Given the description of an element on the screen output the (x, y) to click on. 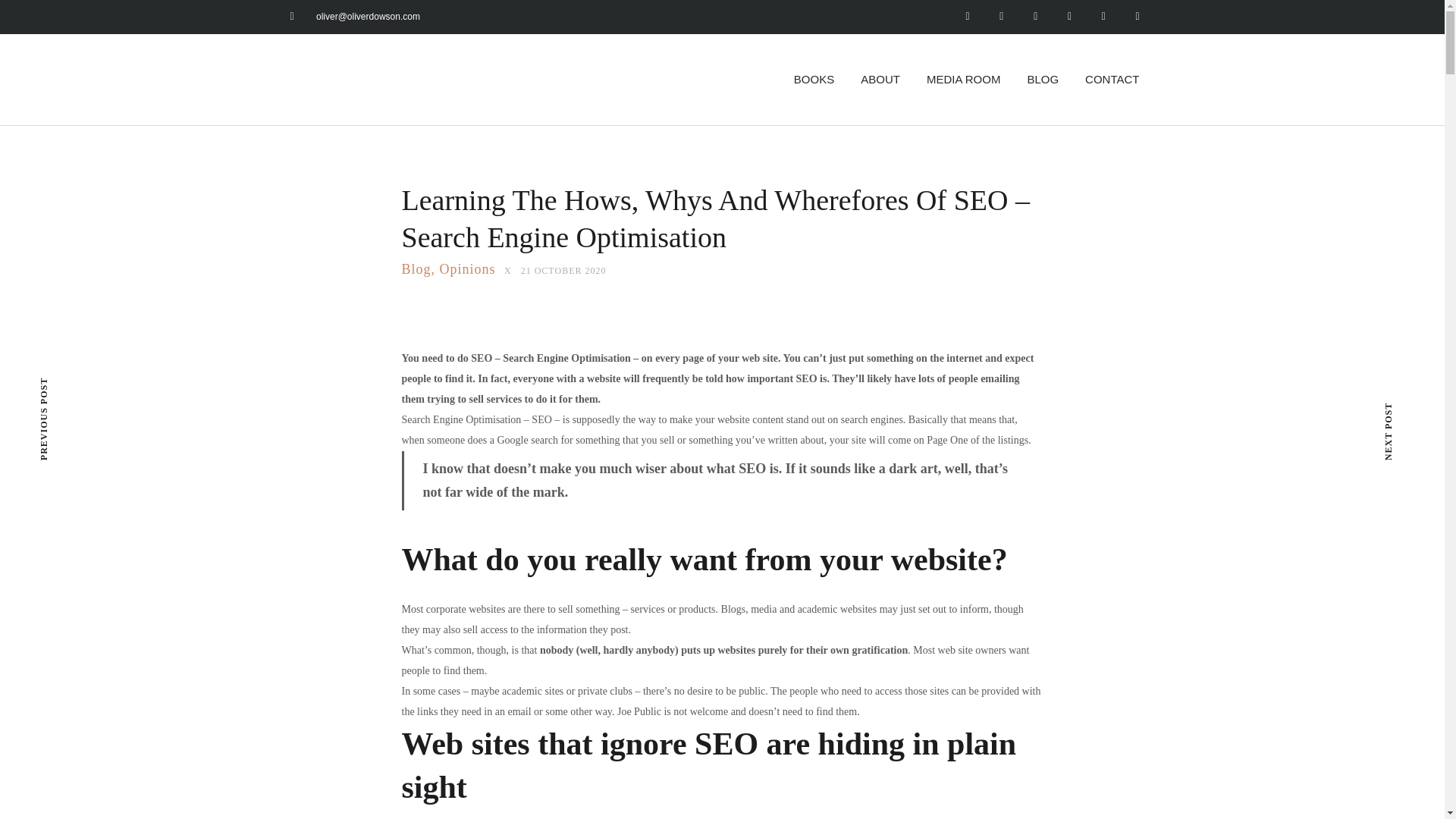
Opinions (467, 269)
MEDIA ROOM (963, 79)
Blog (415, 269)
CONTACT (1112, 79)
